Given the description of an element on the screen output the (x, y) to click on. 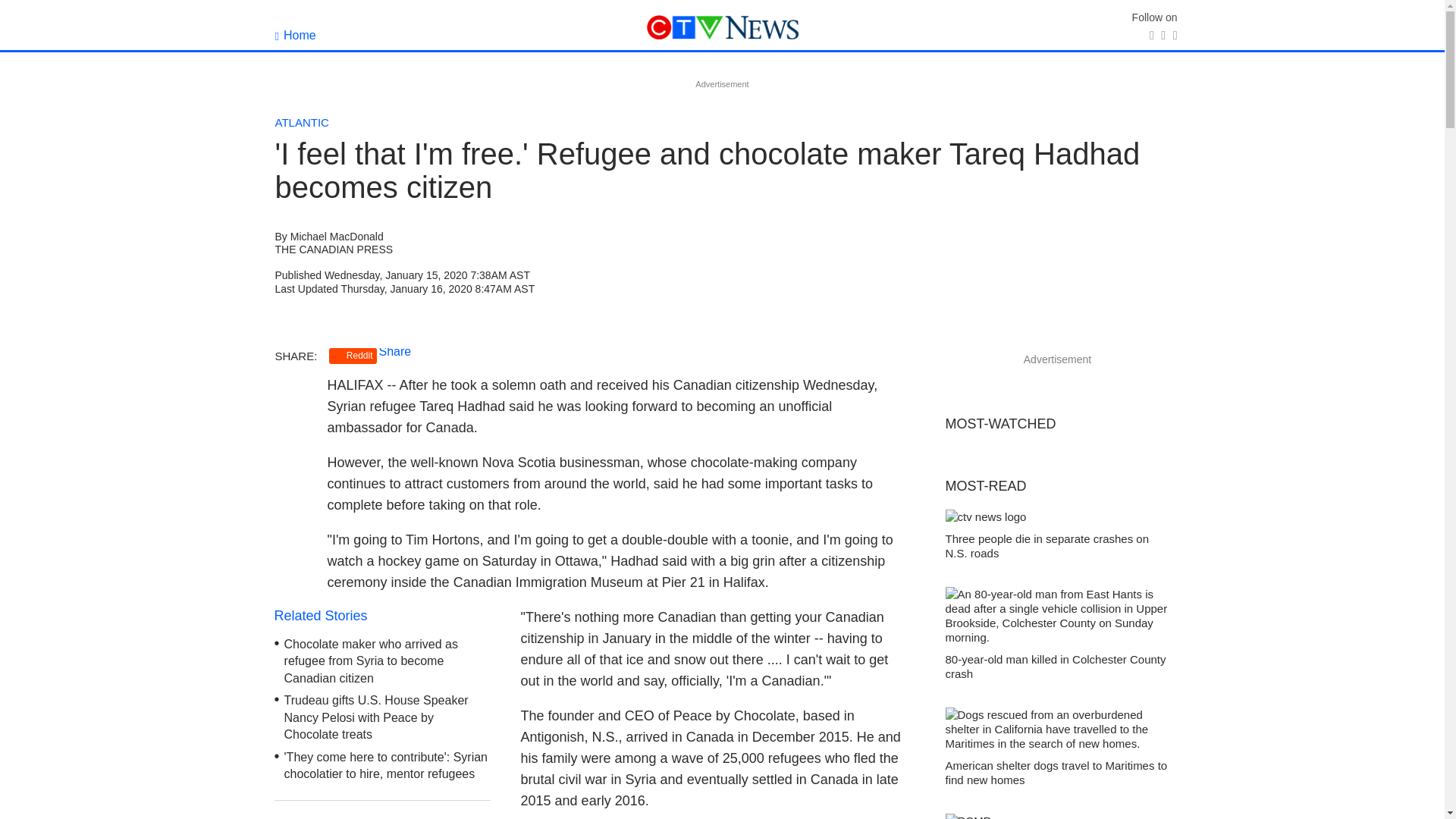
Reddit (353, 355)
Home (295, 34)
Share (395, 350)
ATLANTIC (302, 122)
